Given the description of an element on the screen output the (x, y) to click on. 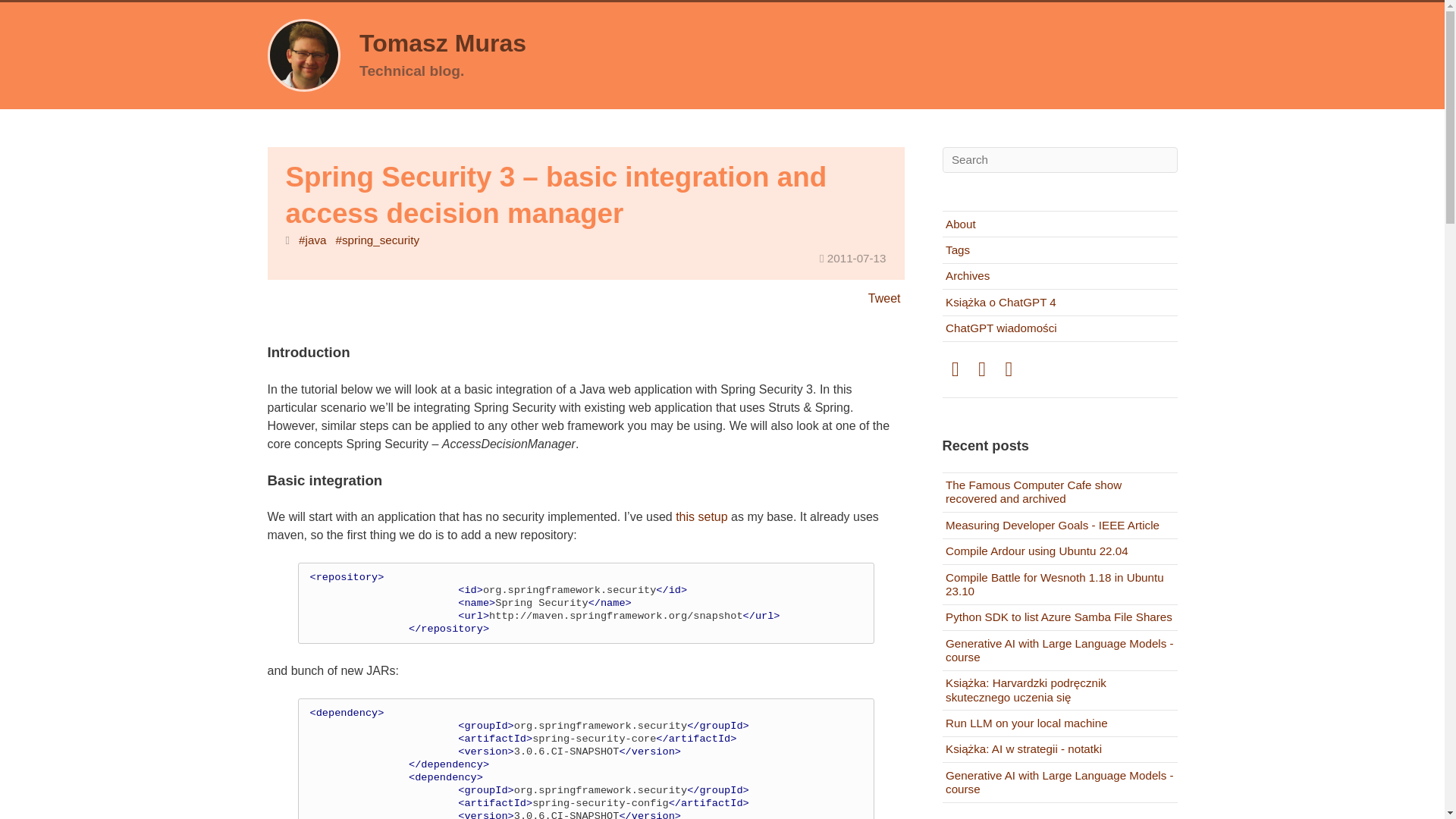
Generative AI with Large Language Models - course (1059, 782)
Tags (1059, 249)
Generative AI with Large Language Models - course (1059, 650)
Tweet (884, 297)
Run LLM on your local machine (1059, 722)
Tomasz Muras (442, 43)
About (1059, 223)
Measuring Developer Goals - IEEE Article (1059, 524)
The Famous Computer Cafe show recovered and archived (1059, 492)
this setup (700, 516)
